Given the description of an element on the screen output the (x, y) to click on. 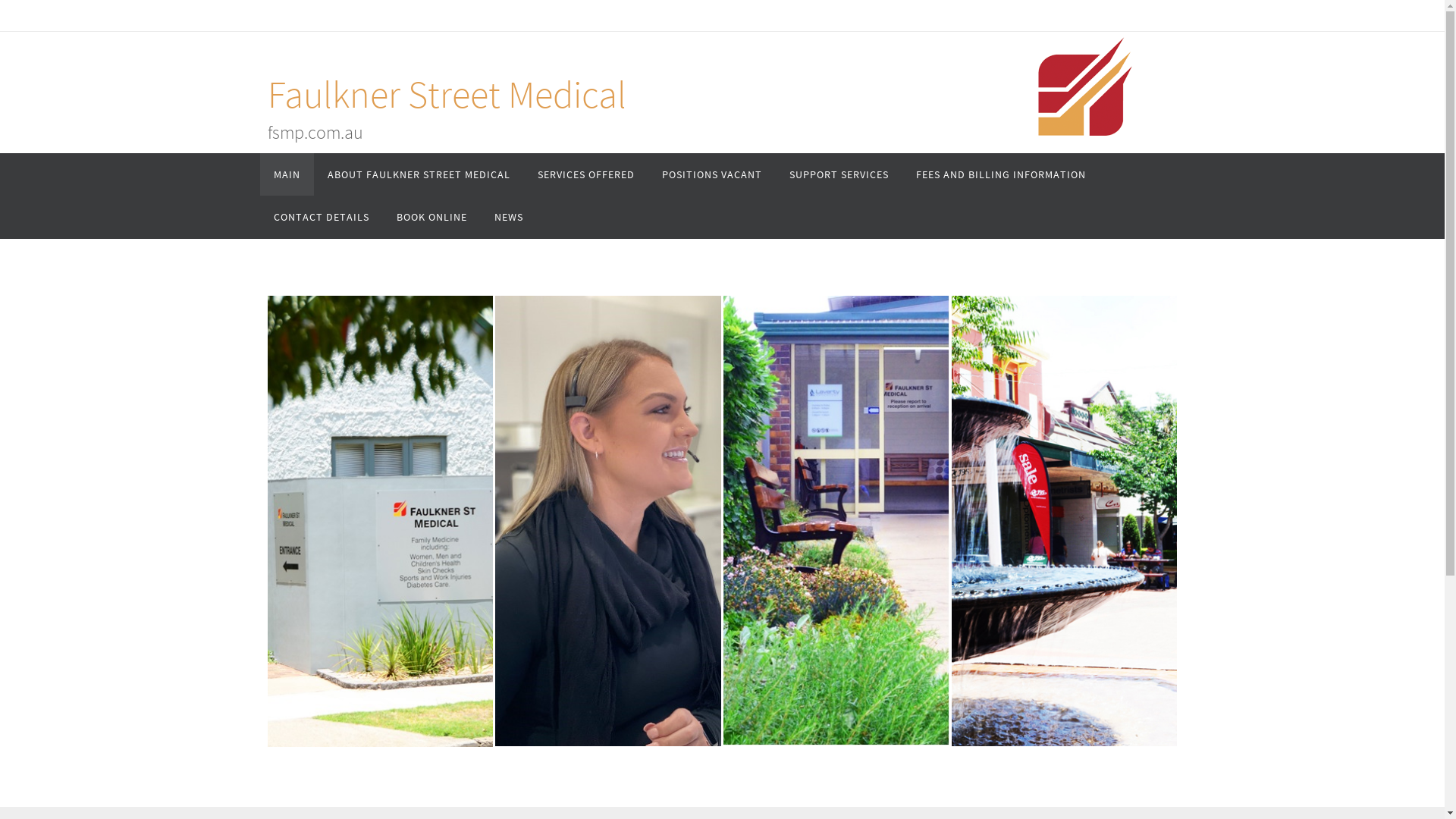
SERVICES OFFERED Element type: text (585, 174)
  Element type: text (401, 521)
POSITIONS VACANT Element type: text (711, 174)
Faulkner Street Medical Element type: text (445, 94)
FEES AND BILLING INFORMATION Element type: text (1000, 174)
SUPPORT SERVICES Element type: text (838, 174)
  Element type: text (630, 520)
BOOK ONLINE Element type: text (431, 216)
CONTACT DETAILS Element type: text (320, 216)
  Element type: text (858, 520)
ABOUT FAULKNER STREET MEDICAL Element type: text (418, 174)
NEWS Element type: text (508, 216)
  Element type: text (1086, 520)
MAIN Element type: text (286, 174)
